Given the description of an element on the screen output the (x, y) to click on. 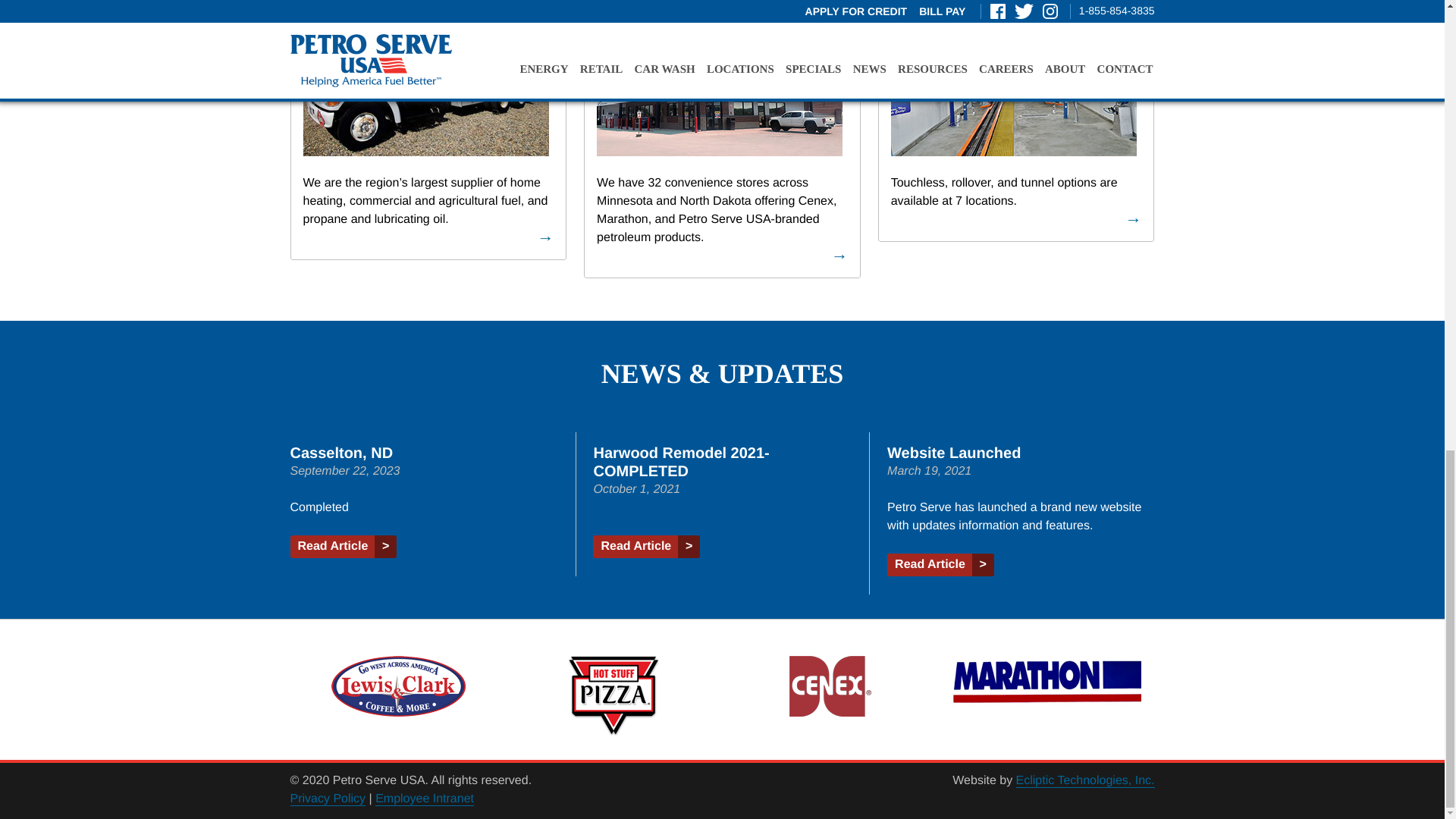
Employee Intranet (424, 798)
Privacy Policy (327, 798)
Ecliptic Technologies, Inc. (1085, 780)
